Given the description of an element on the screen output the (x, y) to click on. 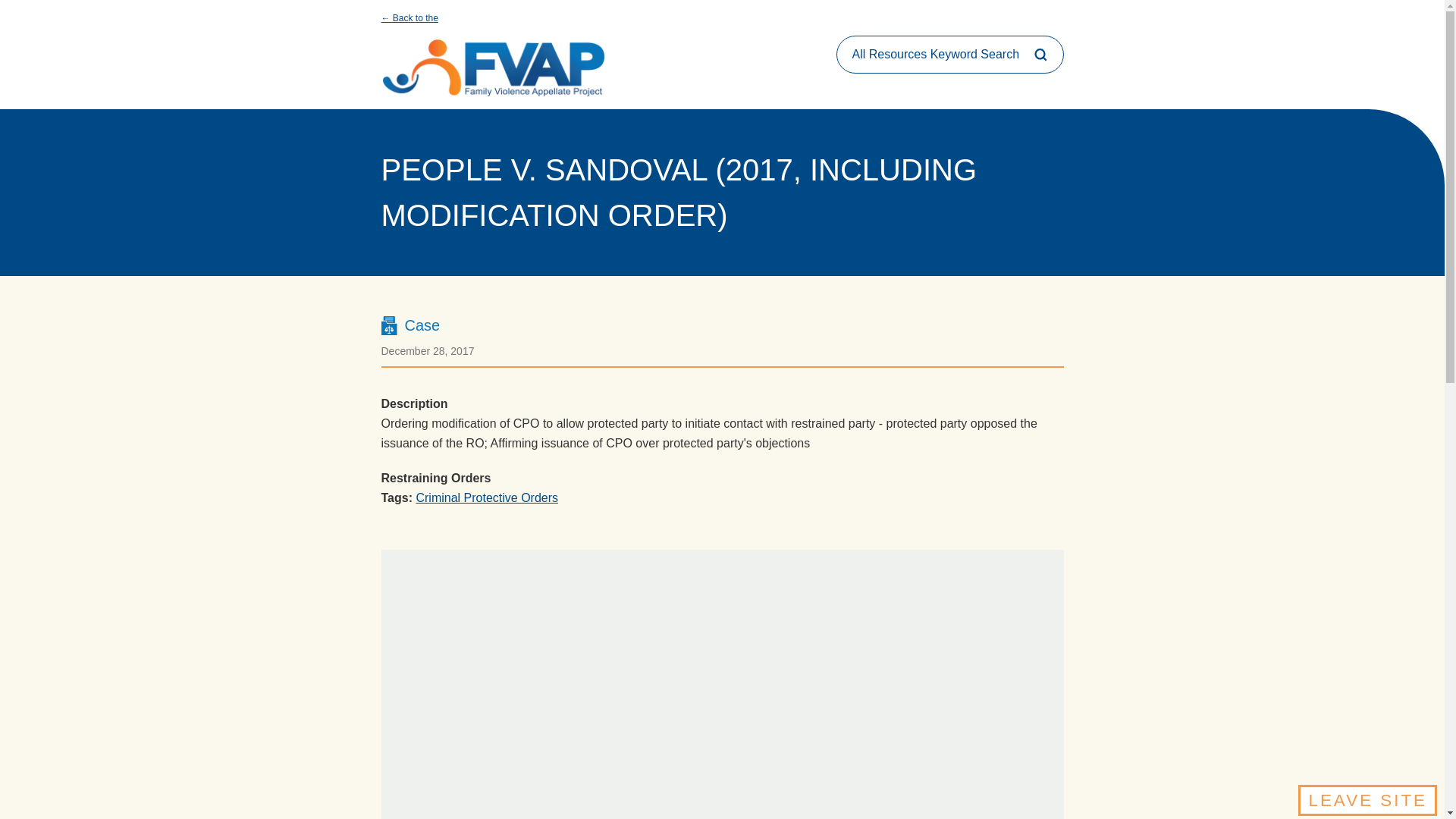
LEAVE SITE (1367, 799)
Criminal Protective Orders (485, 497)
